Given the description of an element on the screen output the (x, y) to click on. 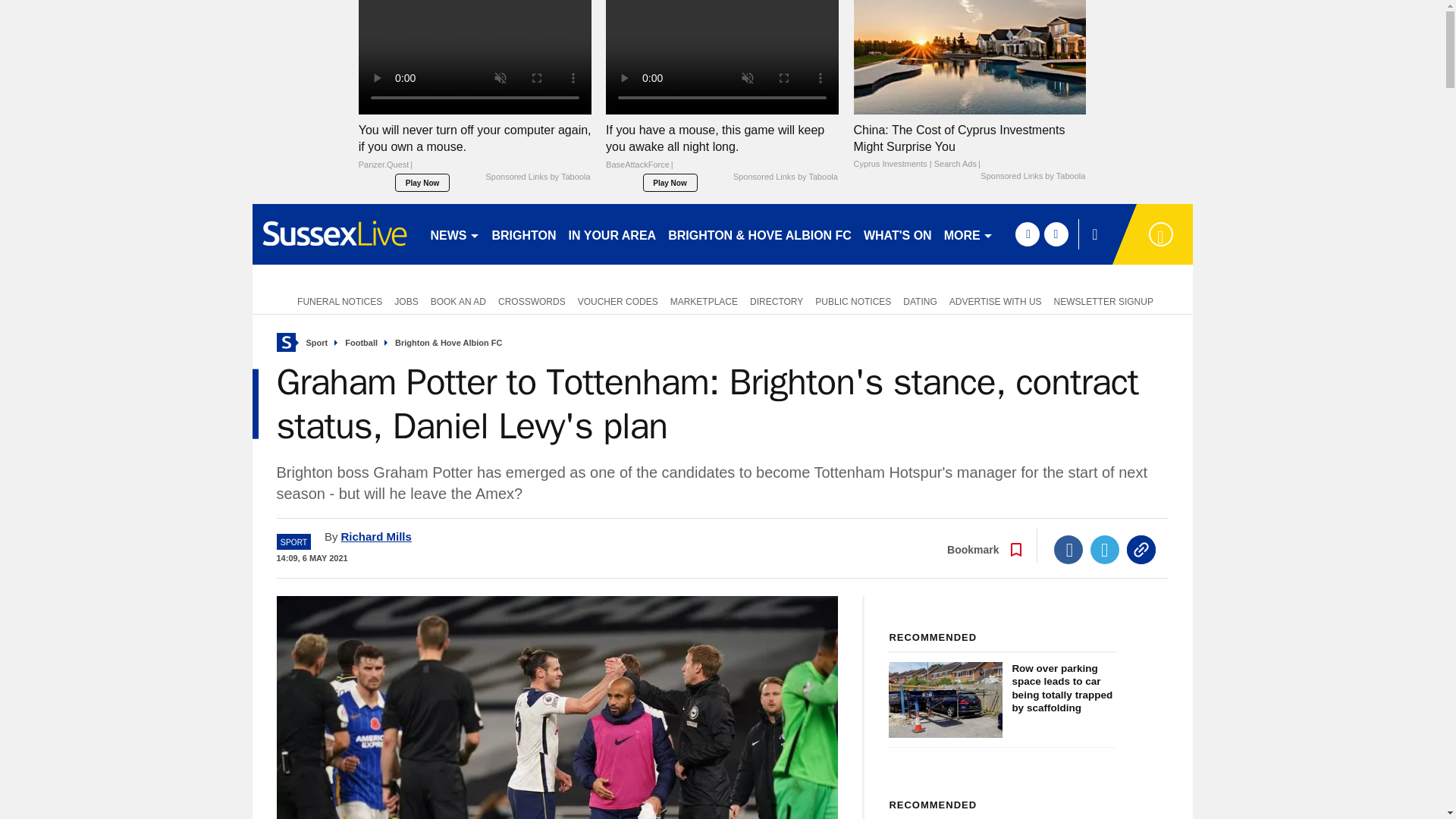
MORE (967, 233)
NEWS (455, 233)
sussexlive (333, 233)
facebook (1026, 233)
WHAT'S ON (897, 233)
China: The Cost of Cyprus Investments Might Surprise You (969, 146)
BRIGHTON (523, 233)
Facebook (1068, 549)
Sponsored Links by Taboola (536, 176)
Twitter (1104, 549)
twitter (1055, 233)
